Given the description of an element on the screen output the (x, y) to click on. 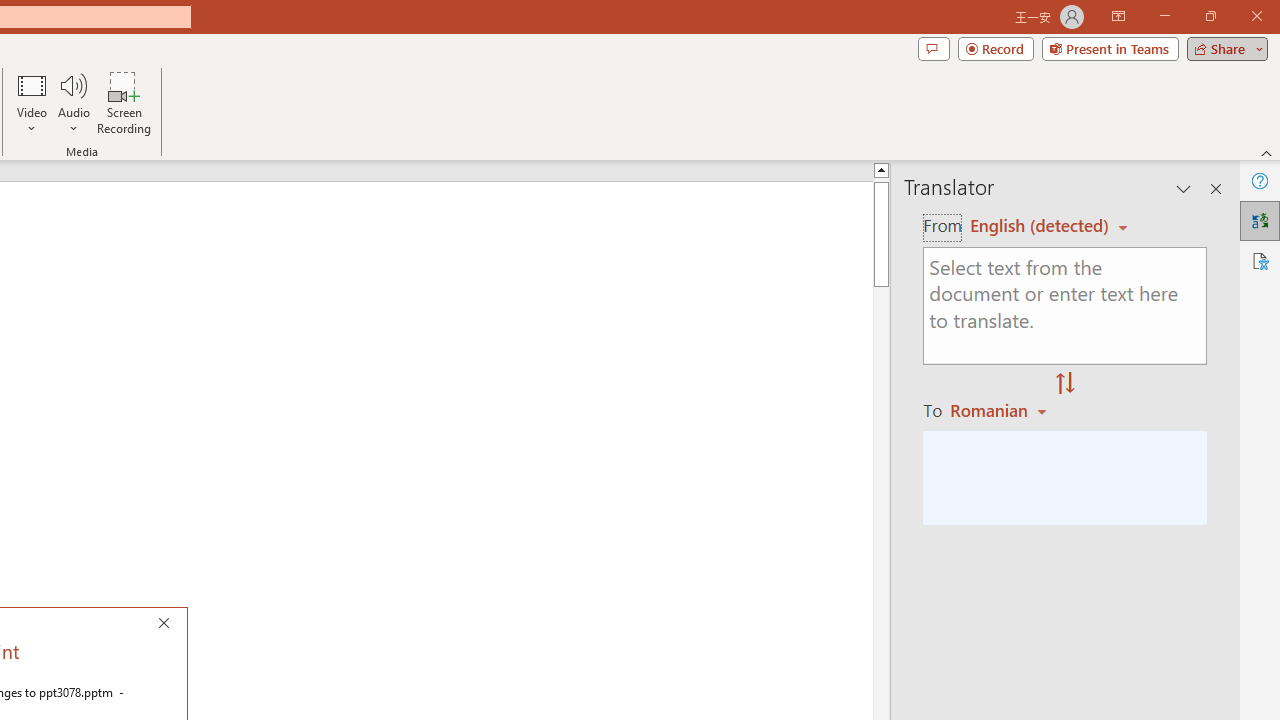
Czech (detected) (1039, 225)
Video (31, 102)
Swap "from" and "to" languages. (1065, 383)
Romanian (1001, 409)
Screen Recording... (123, 102)
